Given the description of an element on the screen output the (x, y) to click on. 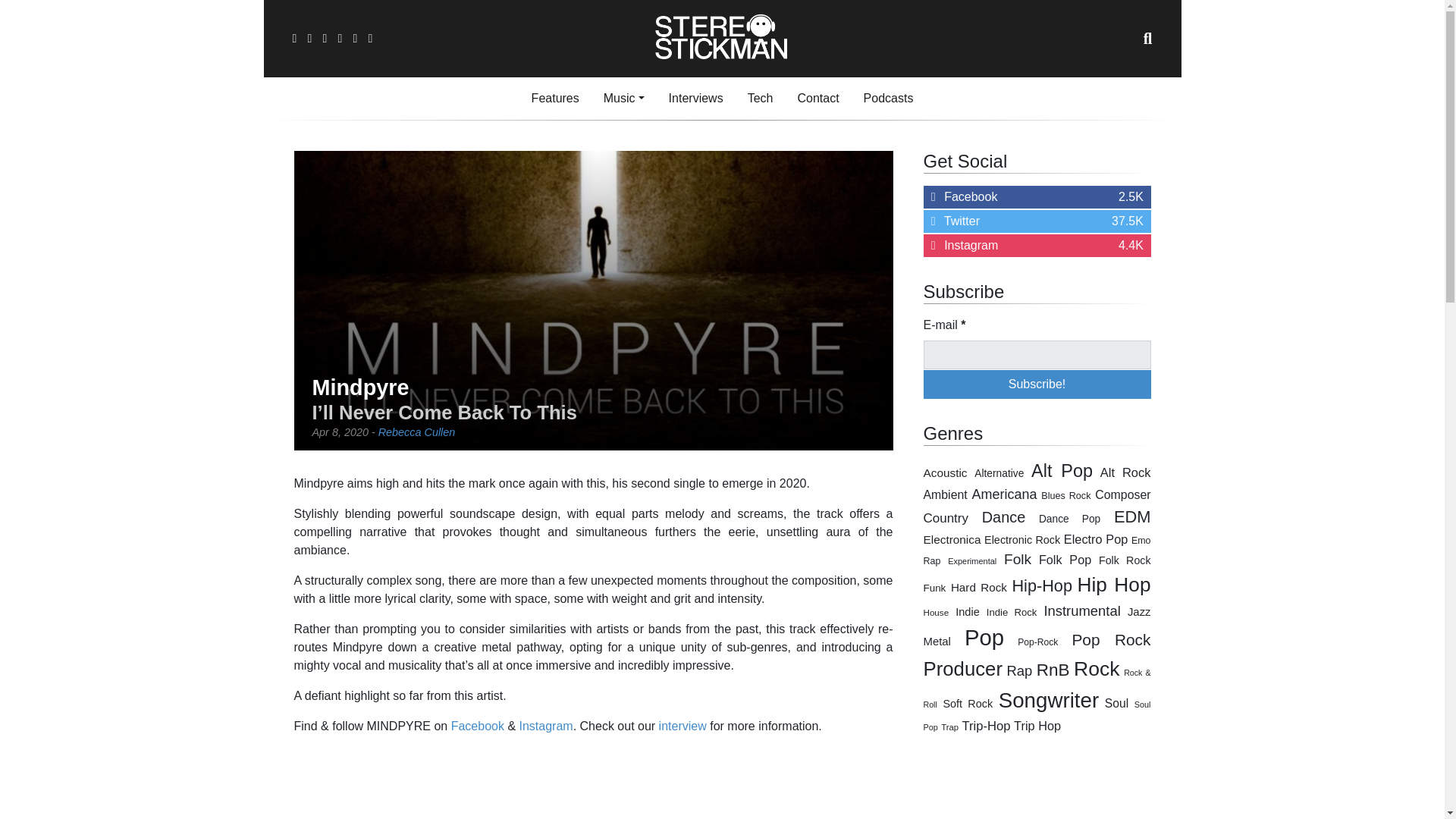
Features (555, 98)
Facebook (1037, 245)
Music (477, 725)
Subscribe! (623, 98)
Interviews (1037, 384)
E-mail (695, 98)
Podcasts (1037, 354)
Contact (888, 98)
Interviews (817, 98)
Contact (695, 98)
Features (817, 98)
Tech (555, 98)
Spotify Embed: I'll Never Come Back to This (760, 98)
